Given the description of an element on the screen output the (x, y) to click on. 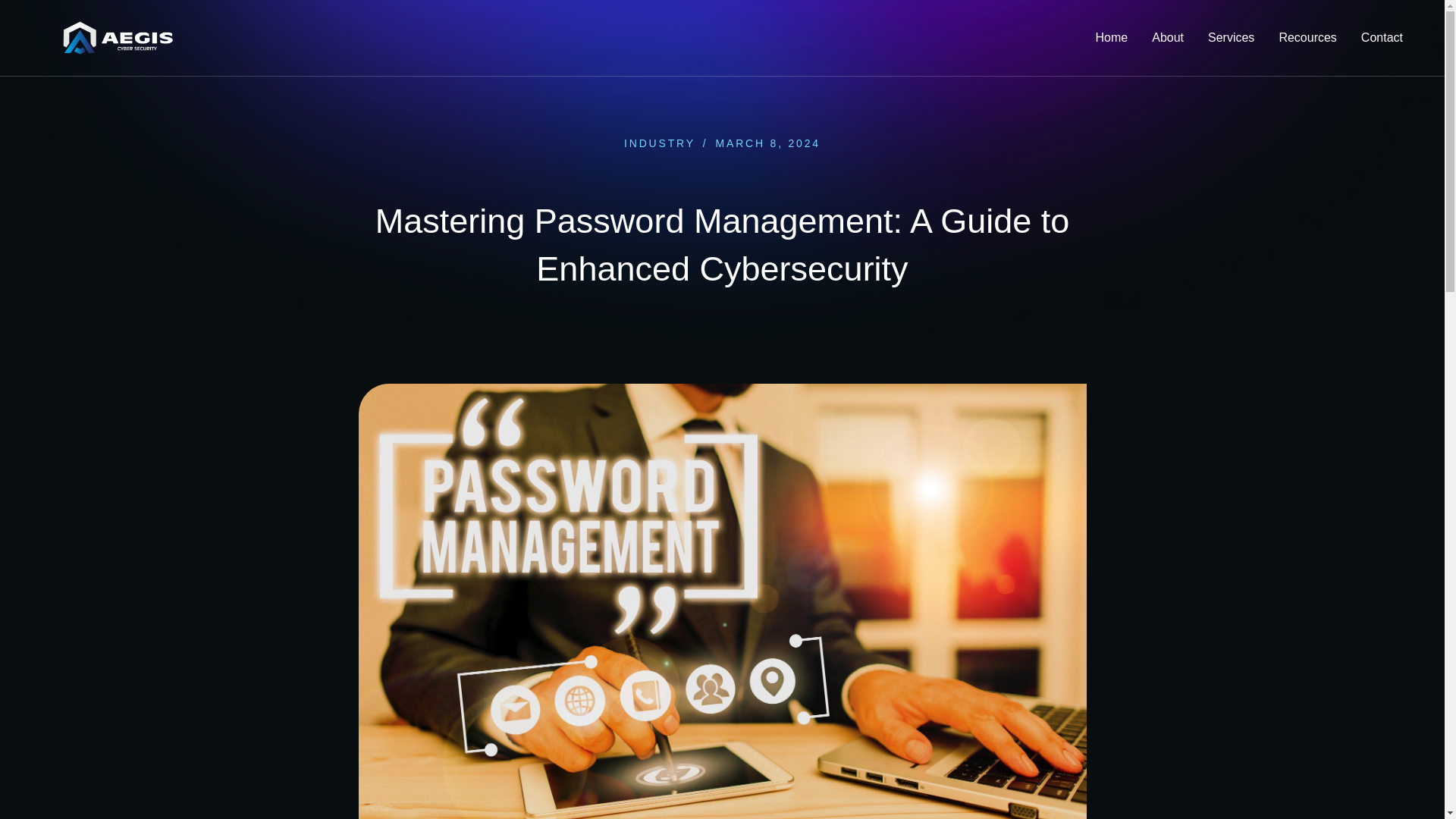
Recources (1307, 38)
Home (1112, 38)
INDUSTRY (659, 143)
Contact (1381, 38)
About (1167, 38)
Services (1230, 38)
